Given the description of an element on the screen output the (x, y) to click on. 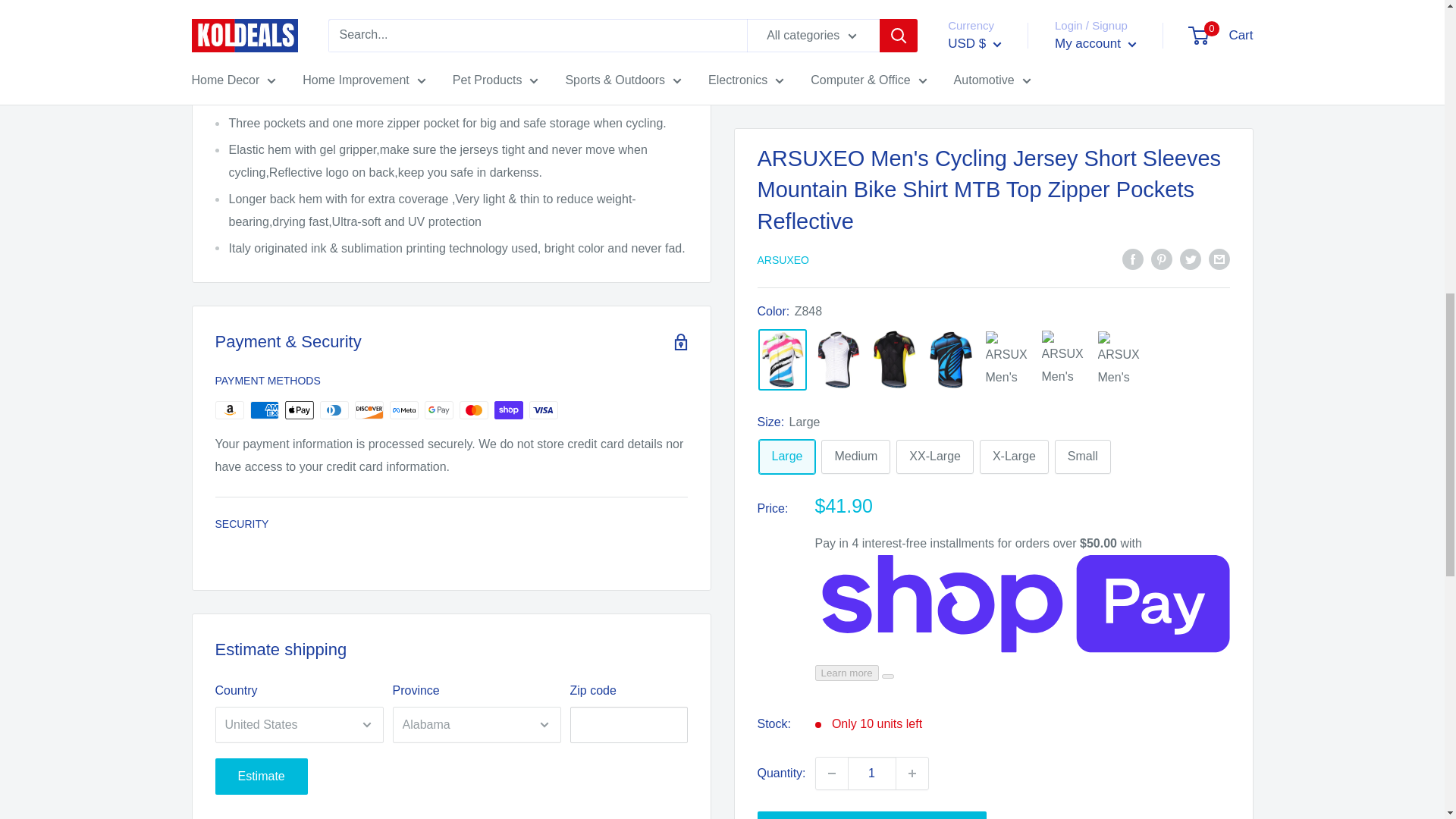
Decrease quantity by 1 (831, 19)
1 (871, 19)
Increase quantity by 1 (912, 19)
